Given the description of an element on the screen output the (x, y) to click on. 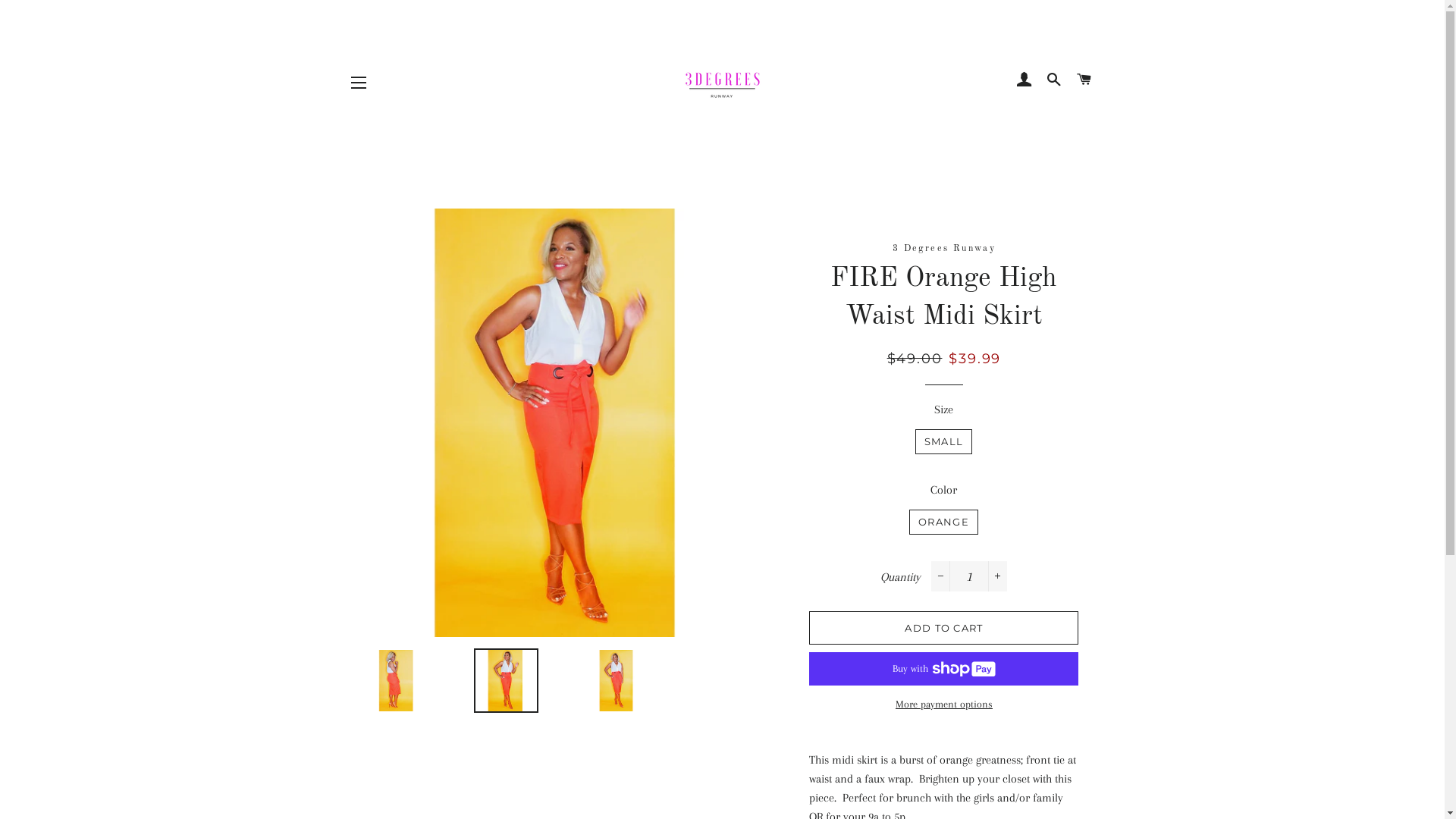
CART Element type: text (1083, 79)
SEARCH Element type: text (1054, 79)
LOG IN Element type: text (1023, 79)
More payment options Element type: text (943, 704)
ADD TO CART Element type: text (943, 627)
+ Element type: text (997, 576)
SITE NAVIGATION Element type: text (358, 82)
